Given the description of an element on the screen output the (x, y) to click on. 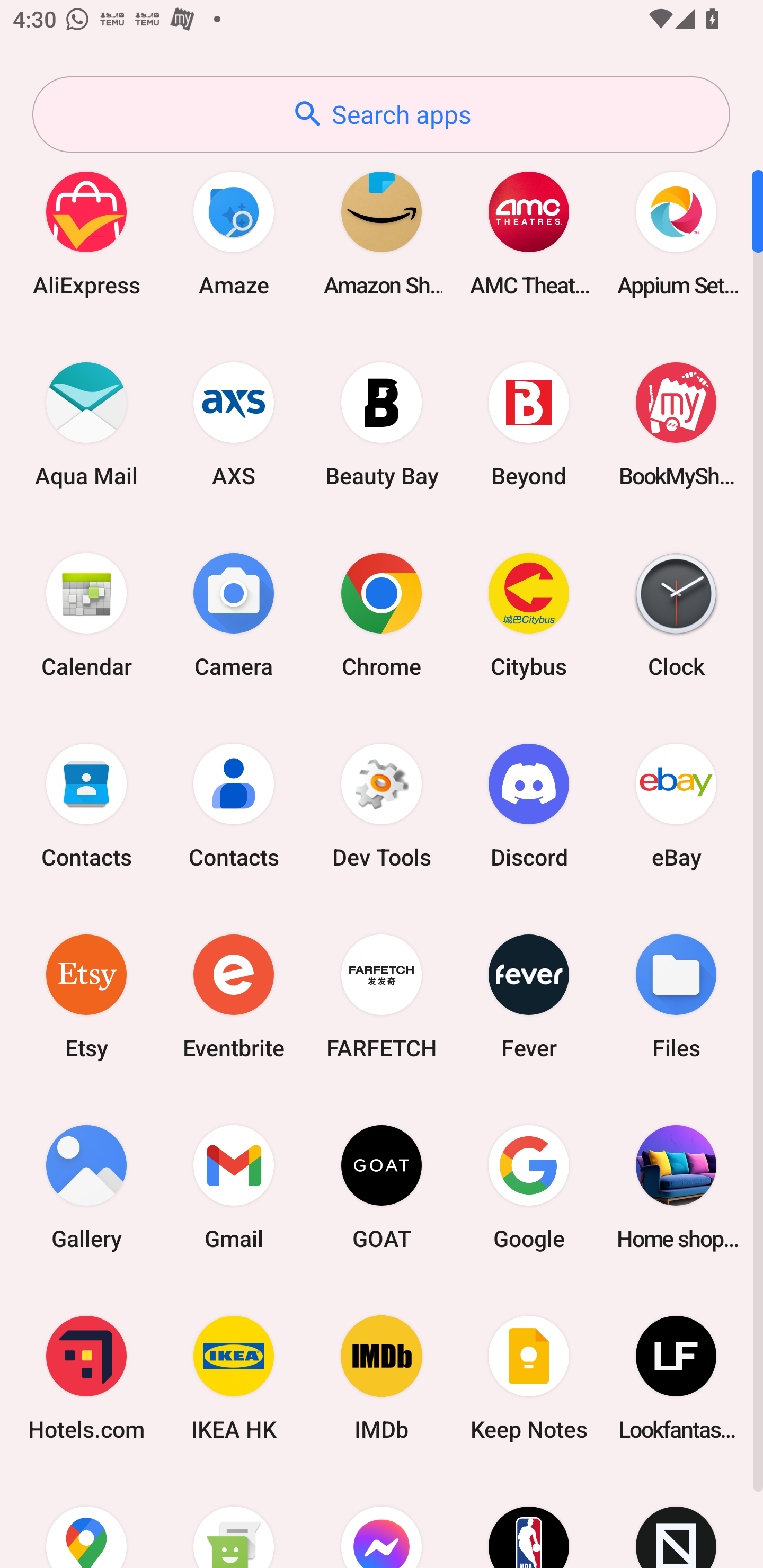
  Search apps (381, 114)
AliExpress (86, 233)
Amaze (233, 233)
Amazon Shopping (381, 233)
AMC Theatres (528, 233)
Appium Settings (676, 233)
Aqua Mail (86, 424)
AXS (233, 424)
Beauty Bay (381, 424)
Beyond (528, 424)
BookMyShow (676, 424)
Calendar (86, 614)
Camera (233, 614)
Chrome (381, 614)
Citybus (528, 614)
Clock (676, 614)
Contacts (86, 805)
Contacts (233, 805)
Dev Tools (381, 805)
Discord (528, 805)
eBay (676, 805)
Etsy (86, 996)
Eventbrite (233, 996)
FARFETCH (381, 996)
Fever (528, 996)
Files (676, 996)
Gallery (86, 1186)
Gmail (233, 1186)
GOAT (381, 1186)
Google (528, 1186)
Home shopping (676, 1186)
Hotels.com (86, 1377)
IKEA HK (233, 1377)
IMDb (381, 1377)
Keep Notes (528, 1377)
Lookfantastic (676, 1377)
Maps (86, 1520)
Messaging (233, 1520)
Messenger (381, 1520)
NBA (528, 1520)
Novelship (676, 1520)
